Given the description of an element on the screen output the (x, y) to click on. 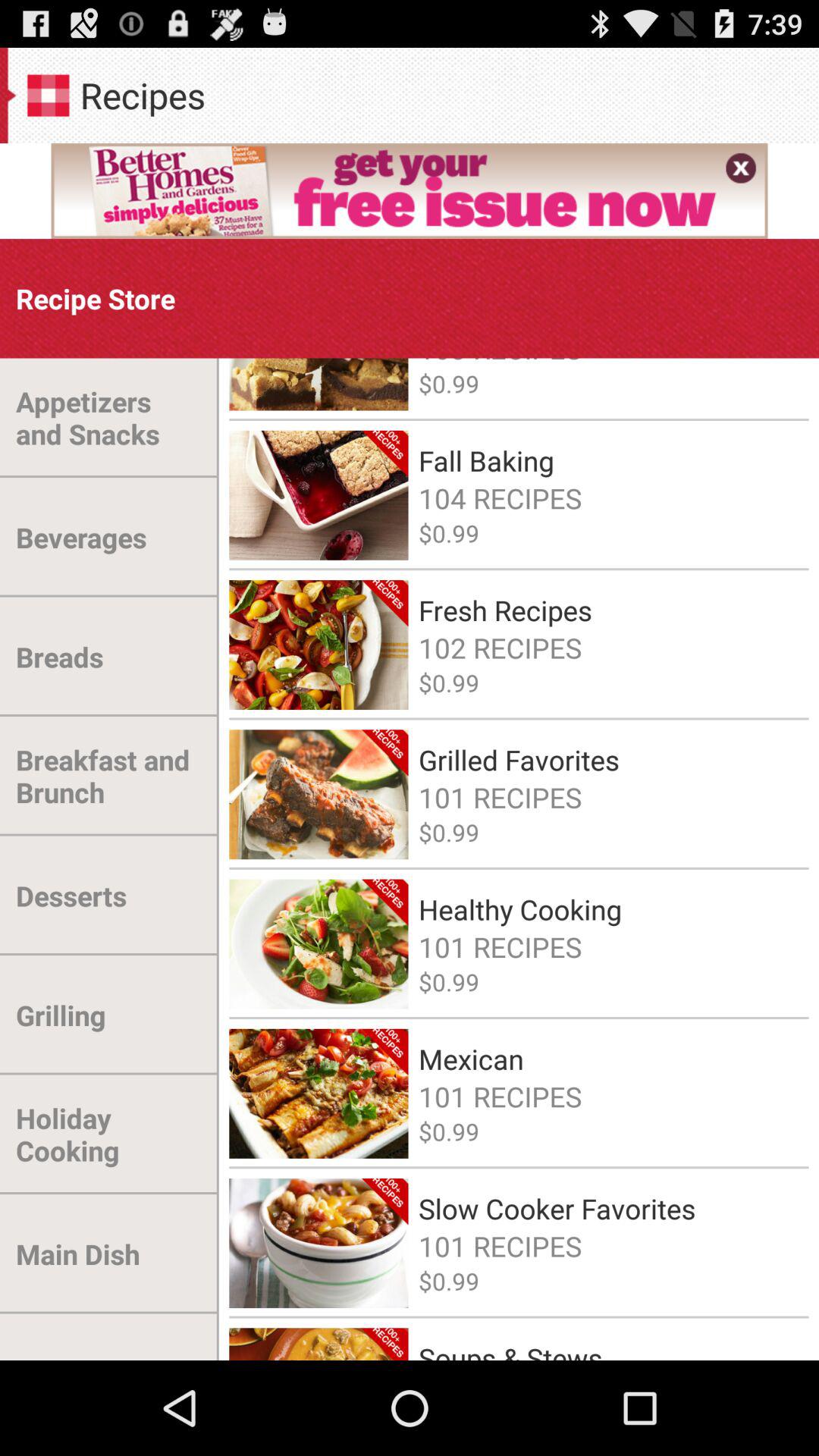
open recipe store app (95, 298)
